Given the description of an element on the screen output the (x, y) to click on. 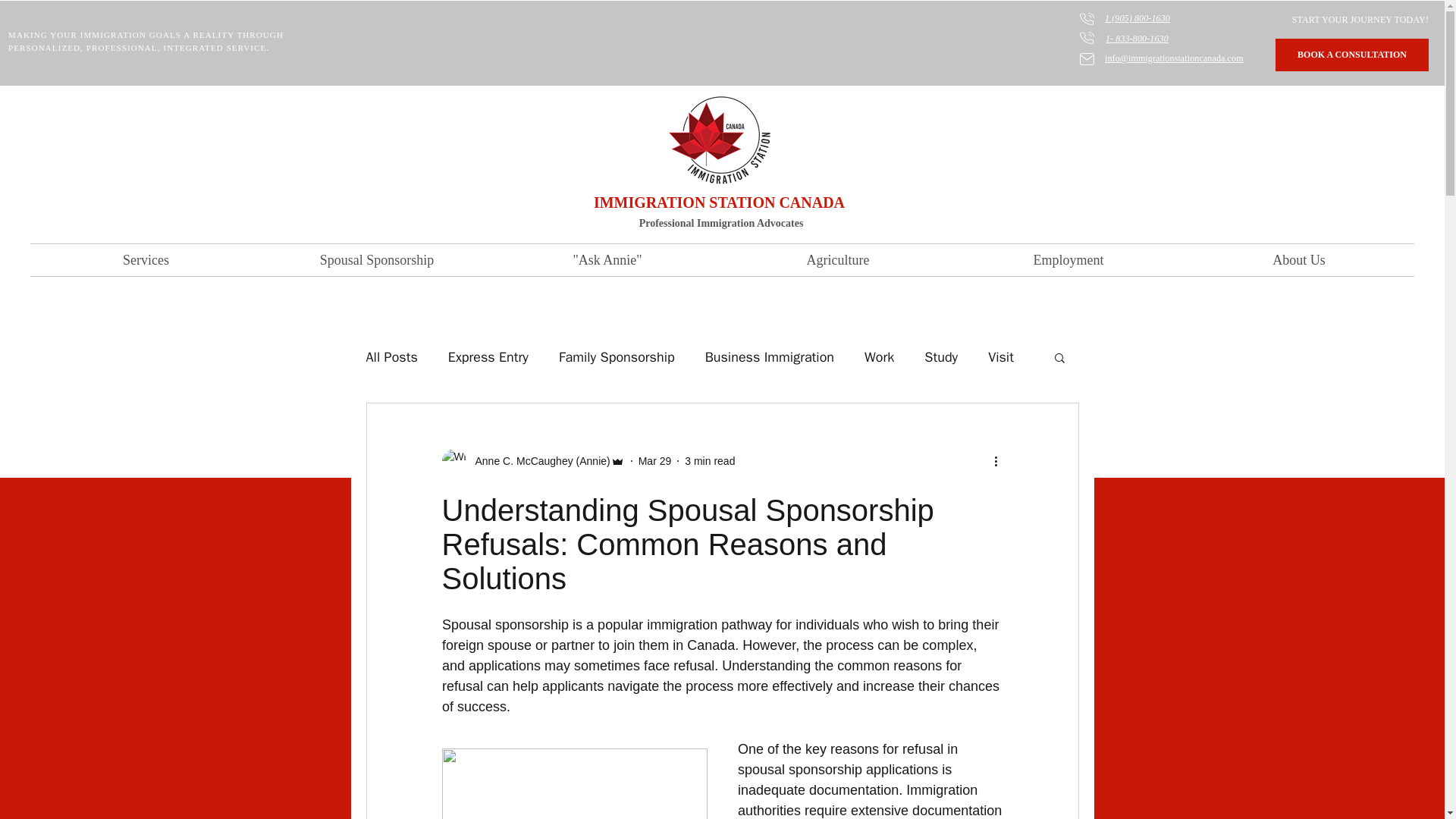
Employment (1068, 260)
Spousal Sponsorship (377, 260)
IMMIGRATION STATION CANADA (719, 202)
Mar 29 (655, 460)
Agriculture (837, 260)
Express Entry (488, 357)
3 min read (709, 460)
Work (878, 357)
1- 833-800-1630 (1137, 38)
"Ask Annie" (607, 260)
BOOK A CONSULTATION (1351, 54)
Study (941, 357)
Services (146, 260)
Family Sponsorship (617, 357)
Professional Immigration Advocates (721, 223)
